Given the description of an element on the screen output the (x, y) to click on. 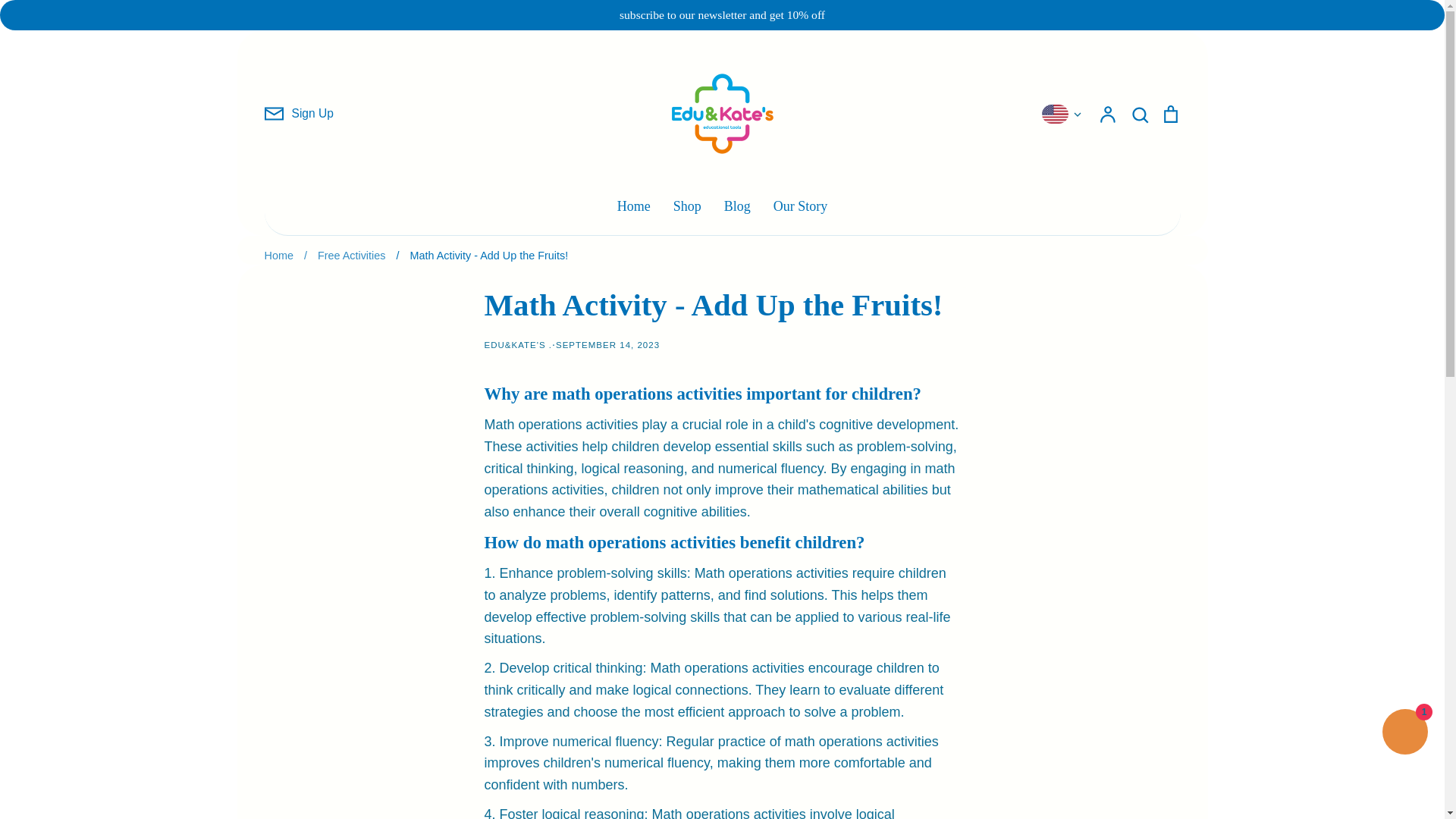
Our Story (800, 206)
Account (1107, 114)
Search (1139, 114)
Sign Up (298, 113)
Shopify online store chat (1404, 733)
Shop (686, 206)
Home (277, 255)
Blog (737, 206)
Cart (1169, 114)
Home (633, 206)
